Given the description of an element on the screen output the (x, y) to click on. 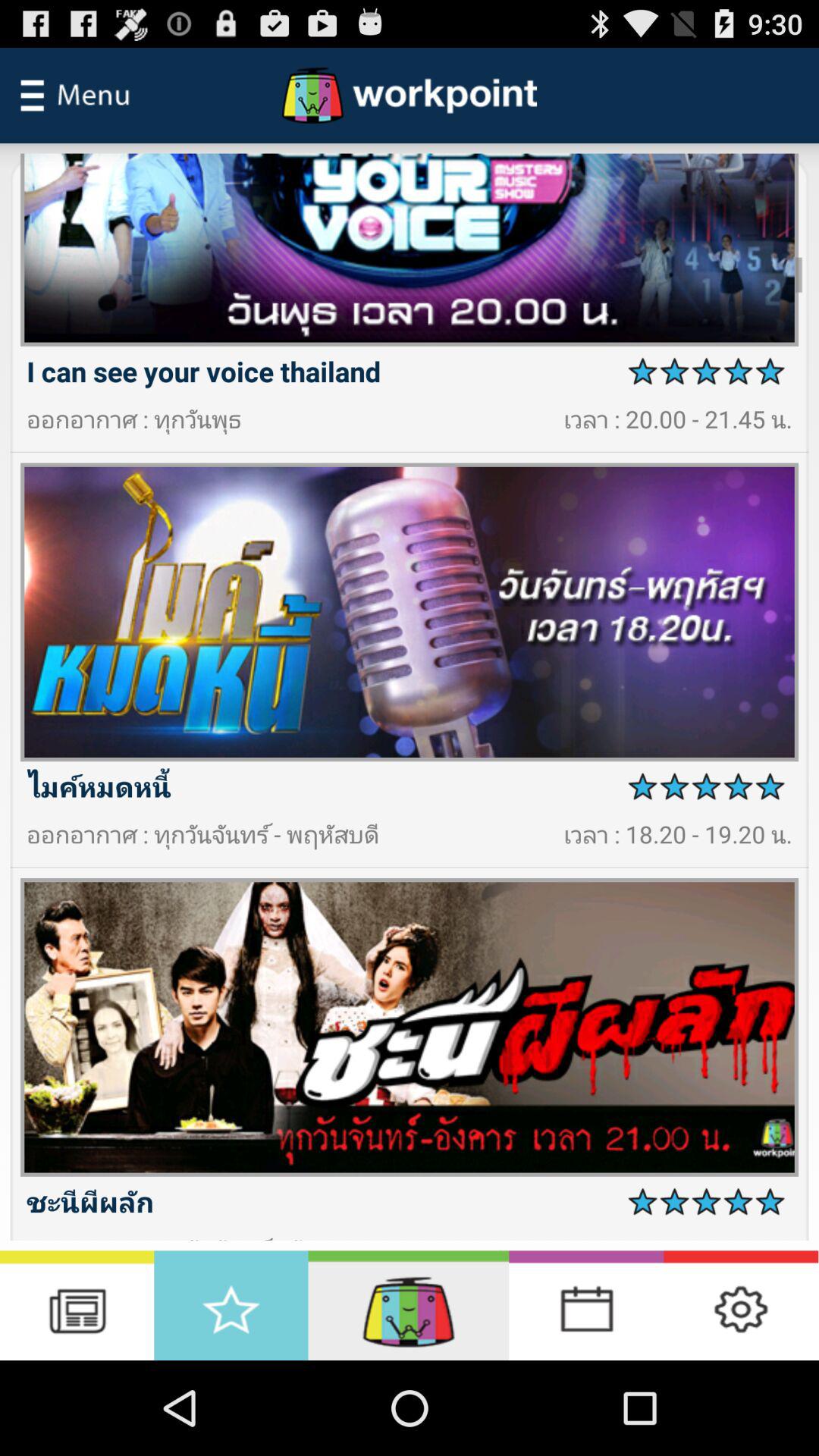
favorites (231, 1305)
